Given the description of an element on the screen output the (x, y) to click on. 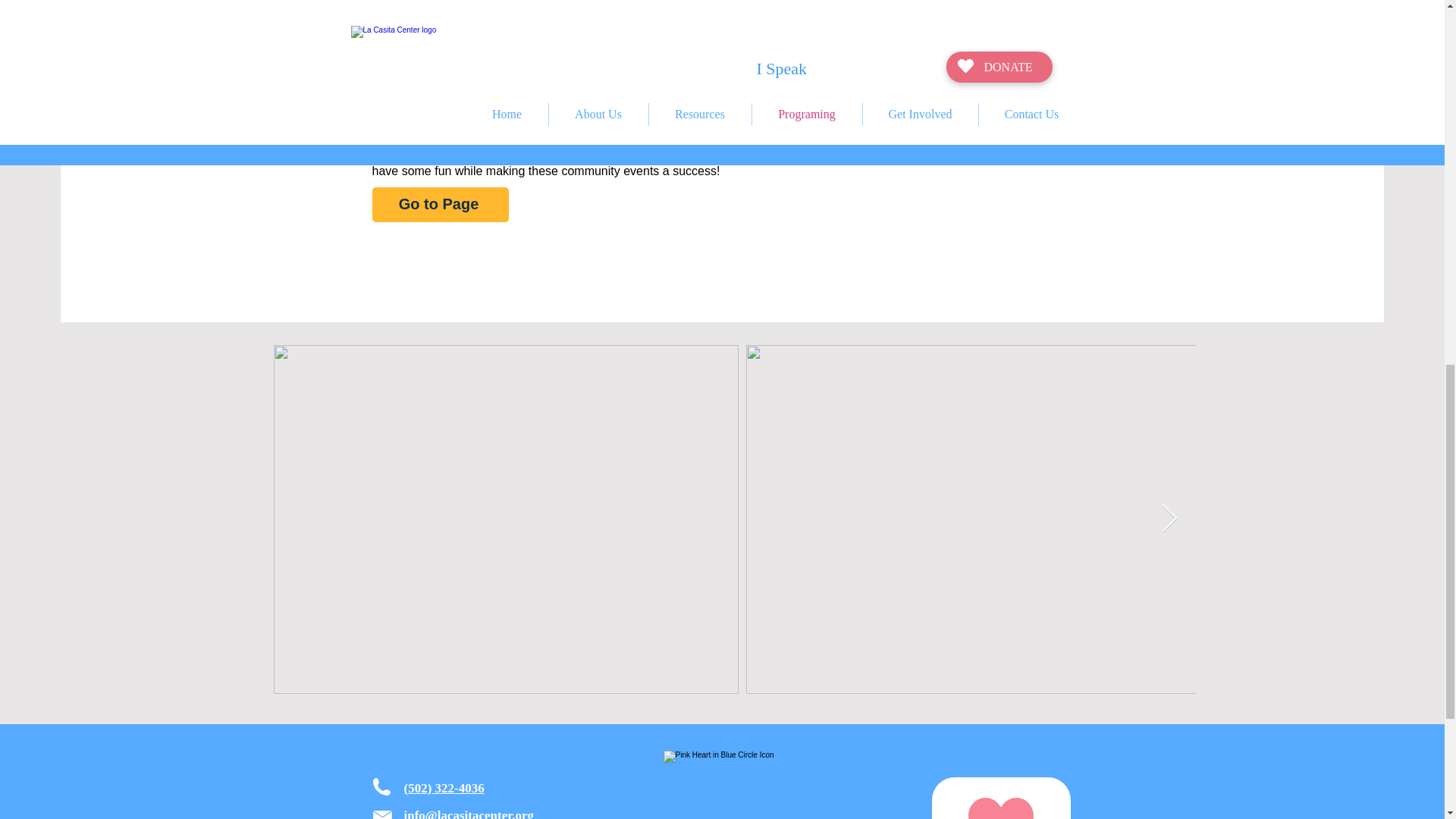
Somos un Circulo (720, 785)
Go to Page (439, 203)
